Given the description of an element on the screen output the (x, y) to click on. 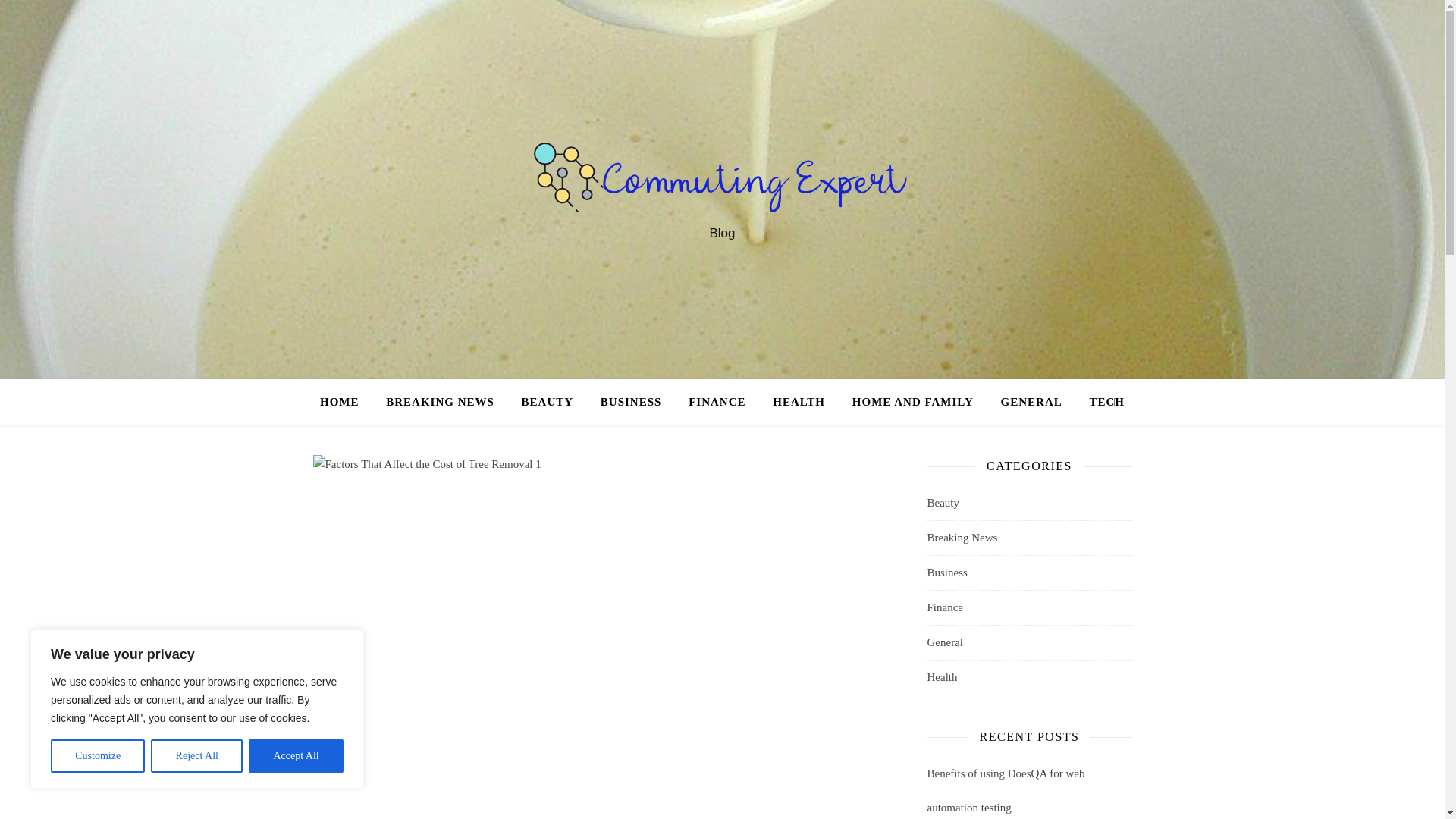
FINANCE (717, 402)
HOME AND FAMILY (912, 402)
BREAKING NEWS (440, 402)
BEAUTY (547, 402)
TECH (1100, 402)
GENERAL (1031, 402)
HEALTH (798, 402)
Customize (97, 756)
HOME (345, 402)
Commuting Expert (721, 175)
